Given the description of an element on the screen output the (x, y) to click on. 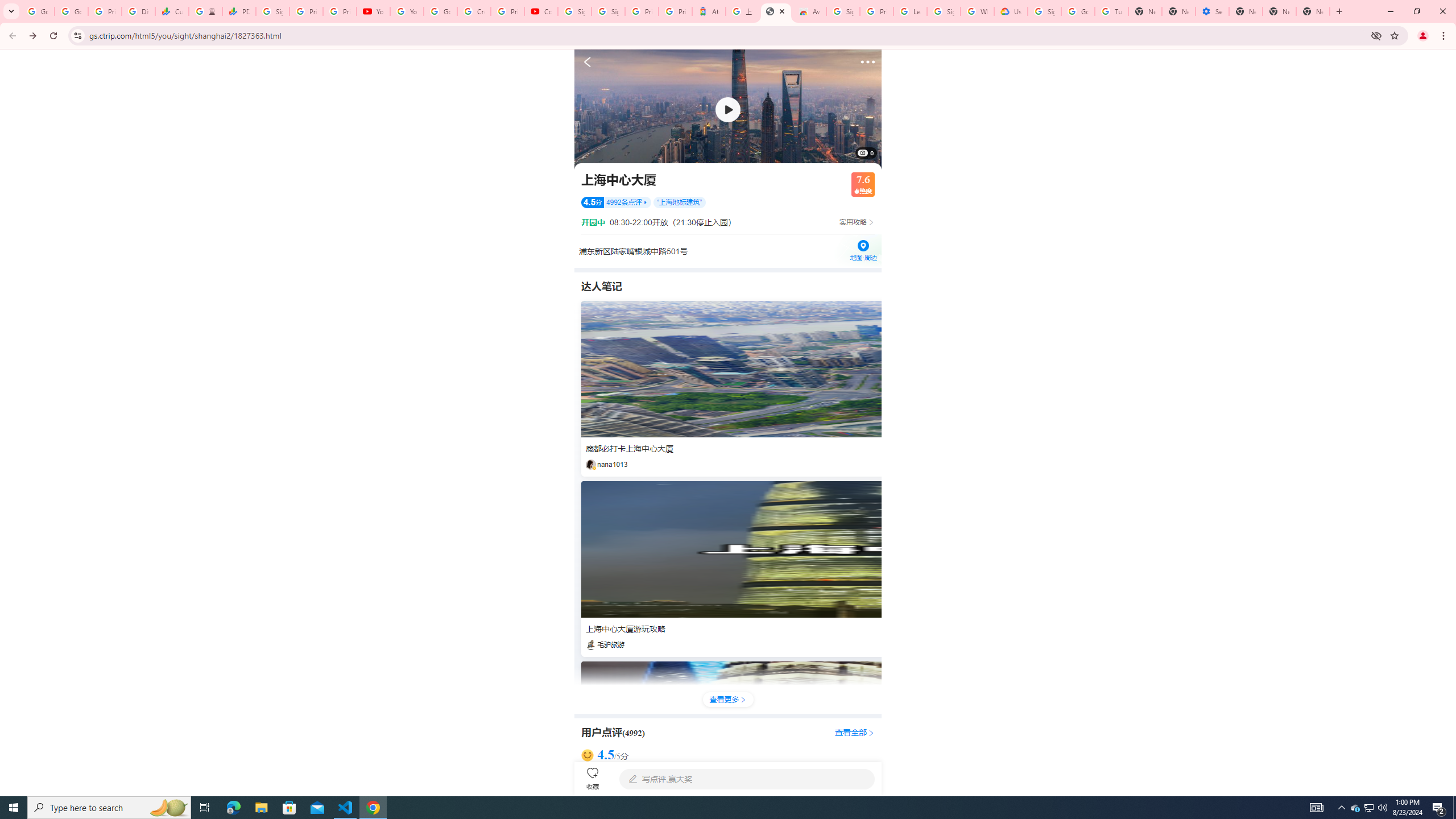
Google Account Help (441, 11)
Sign in - Google Accounts (1043, 11)
Privacy Checkup (339, 11)
New Tab (1246, 11)
